Given the description of an element on the screen output the (x, y) to click on. 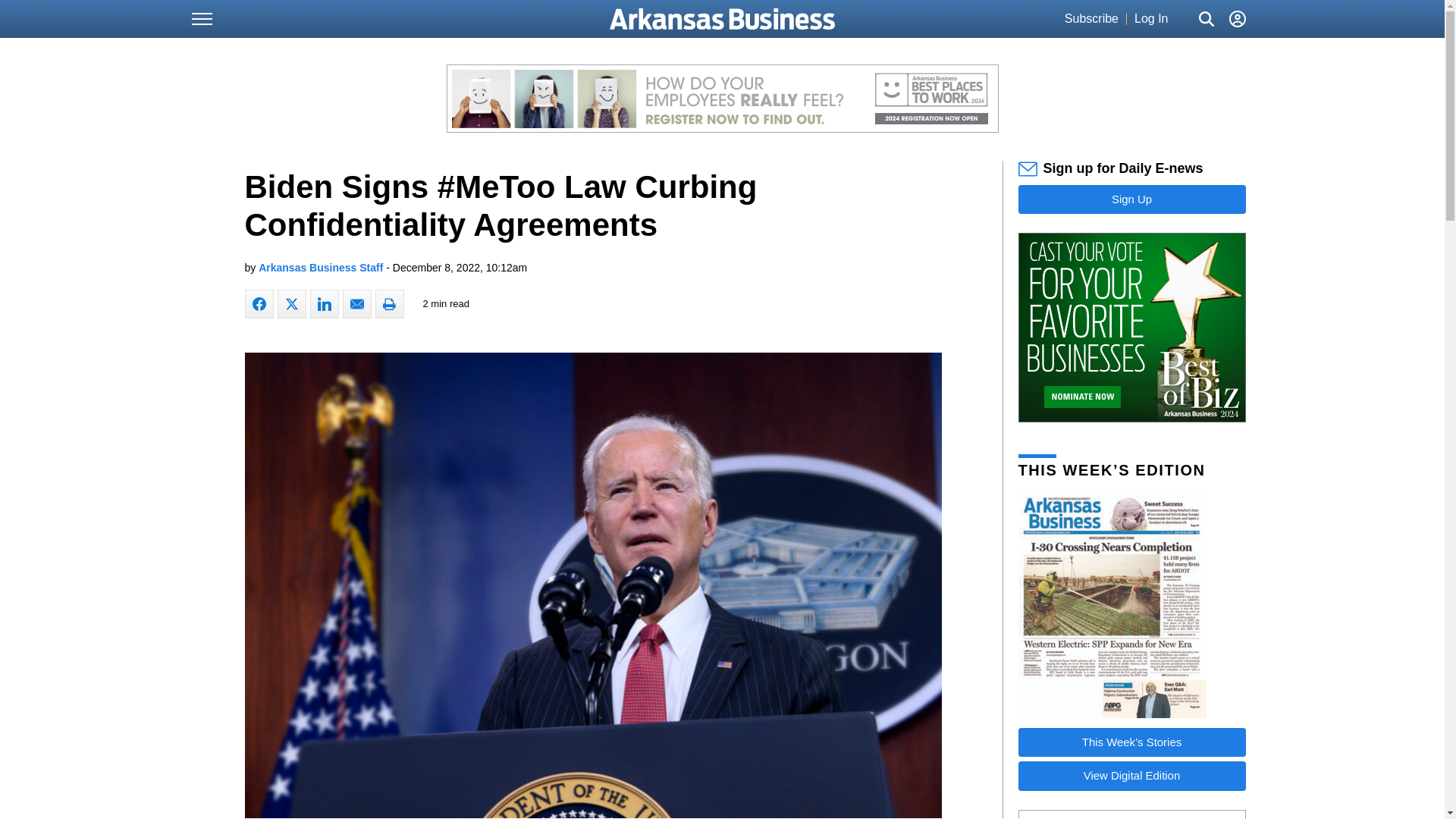
Share on Facebook (258, 303)
Log In (1150, 19)
Share on LinkedIn (322, 303)
Share on Print (388, 303)
Share on Email (356, 303)
Subscribe (1091, 19)
Posts by Arkansas Business Staff (320, 267)
Share on Twitter (291, 303)
